Given the description of an element on the screen output the (x, y) to click on. 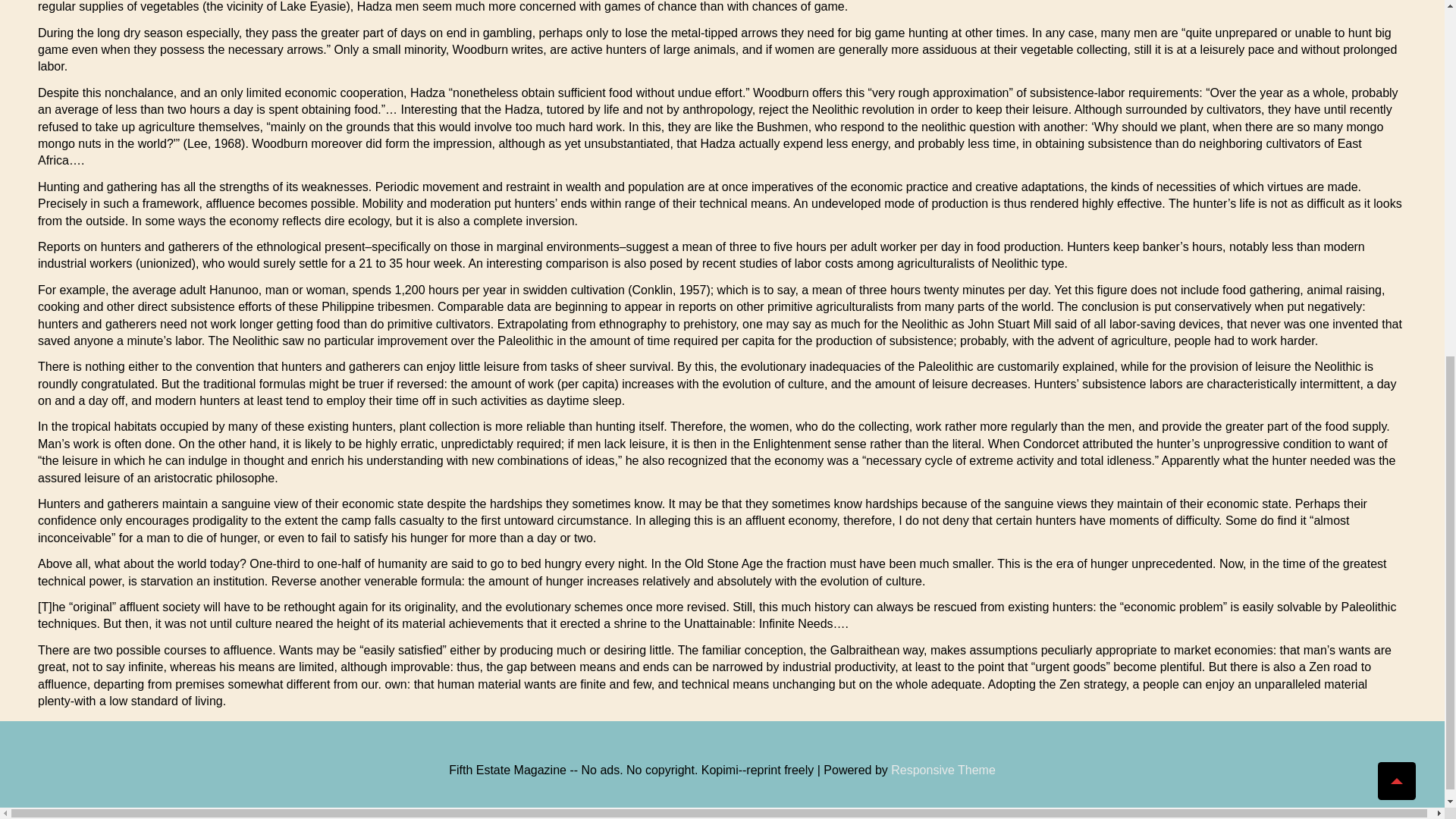
Responsive Theme (943, 769)
Top (1396, 136)
Scroll to Top (1396, 136)
